Given the description of an element on the screen output the (x, y) to click on. 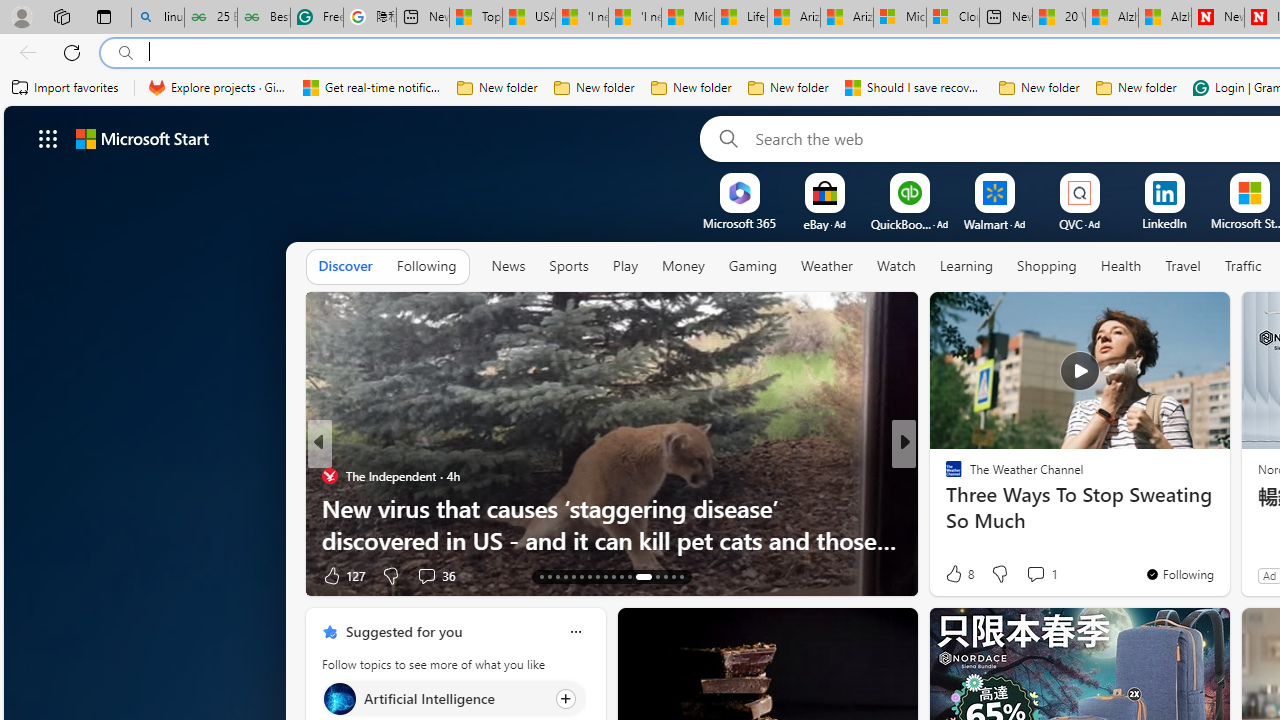
App launcher (47, 138)
